Given the description of an element on the screen output the (x, y) to click on. 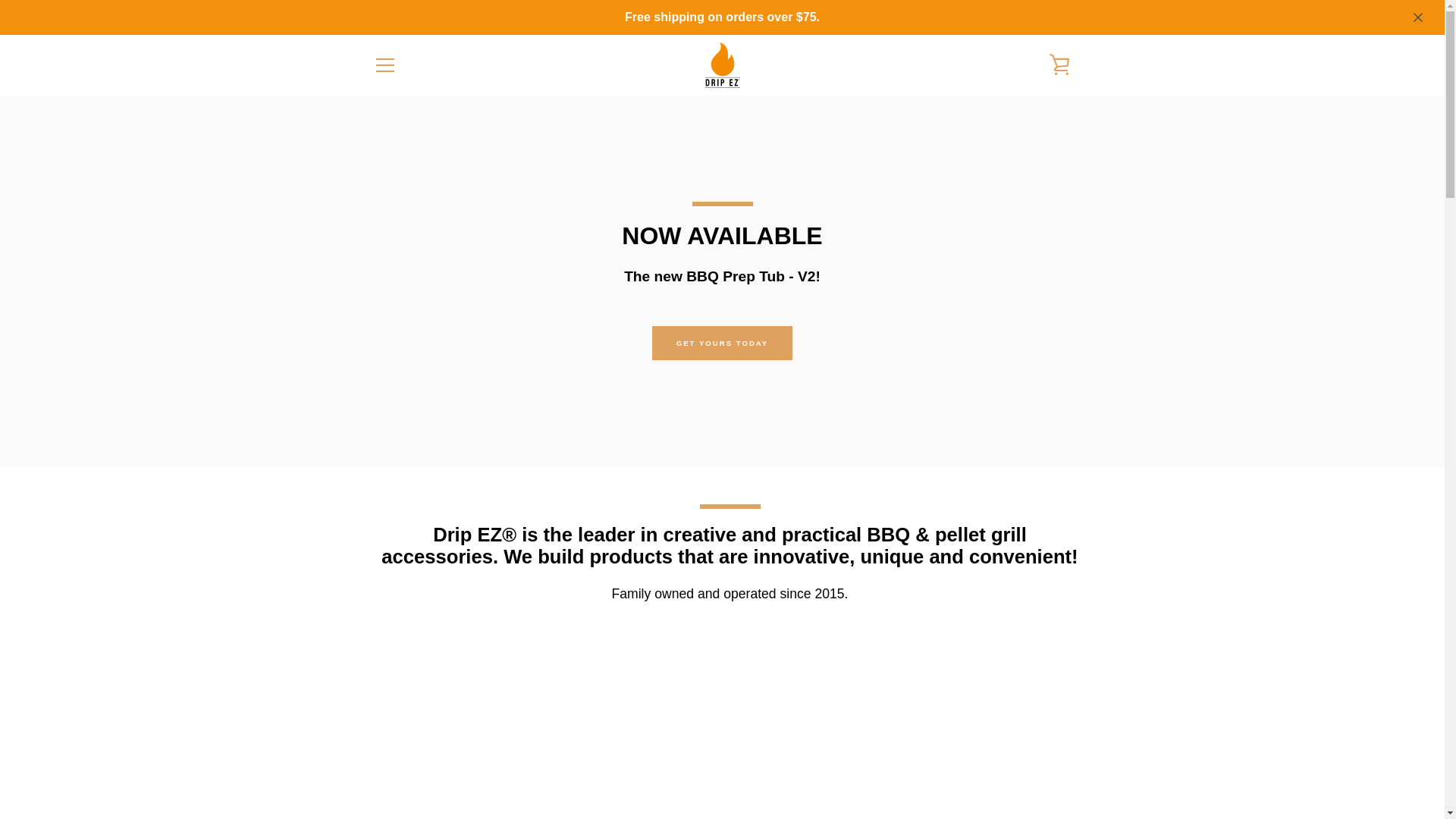
VIEW CART (1059, 64)
GET YOURS TODAY (722, 342)
MENU (384, 64)
